Given the description of an element on the screen output the (x, y) to click on. 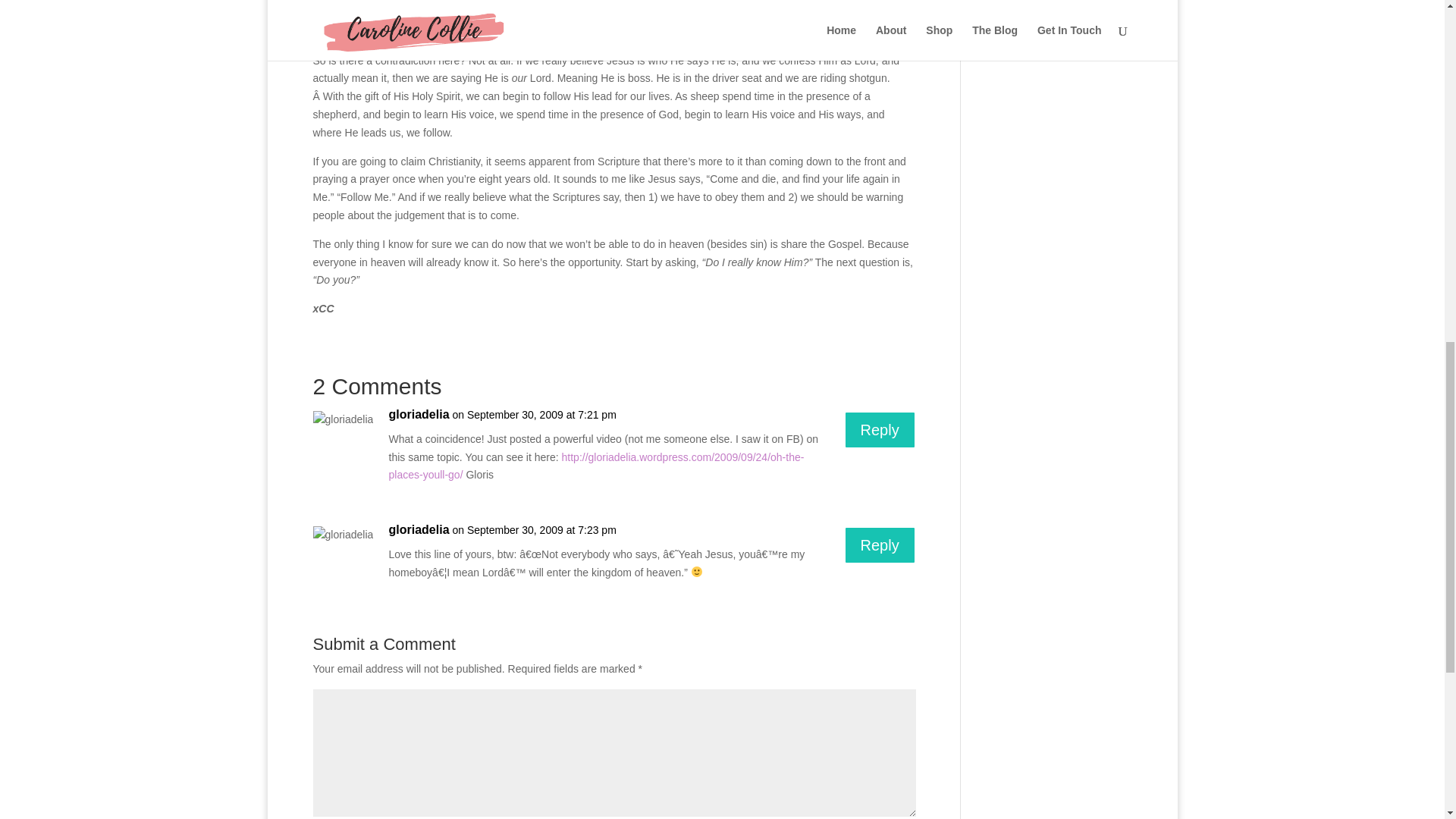
Reply (879, 545)
Romans 10 (413, 13)
Reply (879, 429)
